Given the description of an element on the screen output the (x, y) to click on. 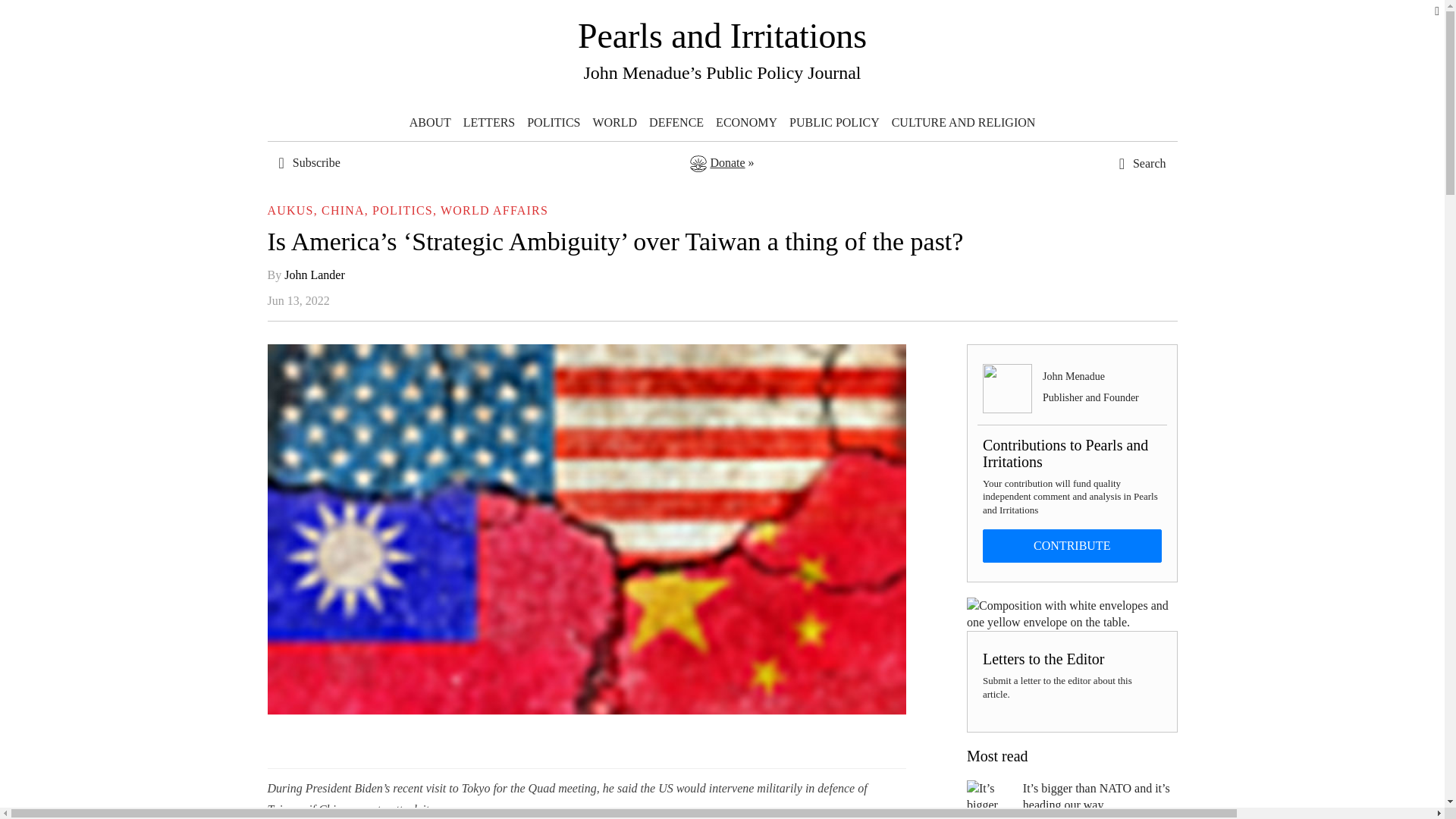
PUBLIC POLICY (834, 122)
DEFENCE (676, 122)
POLITICS (553, 122)
ABOUT (430, 122)
Defence (676, 122)
ECONOMY (746, 122)
World (614, 122)
LETTERS (489, 122)
WORLD (614, 122)
Letters (489, 122)
Search (1106, 283)
Politics (553, 122)
About (430, 122)
